Given the description of an element on the screen output the (x, y) to click on. 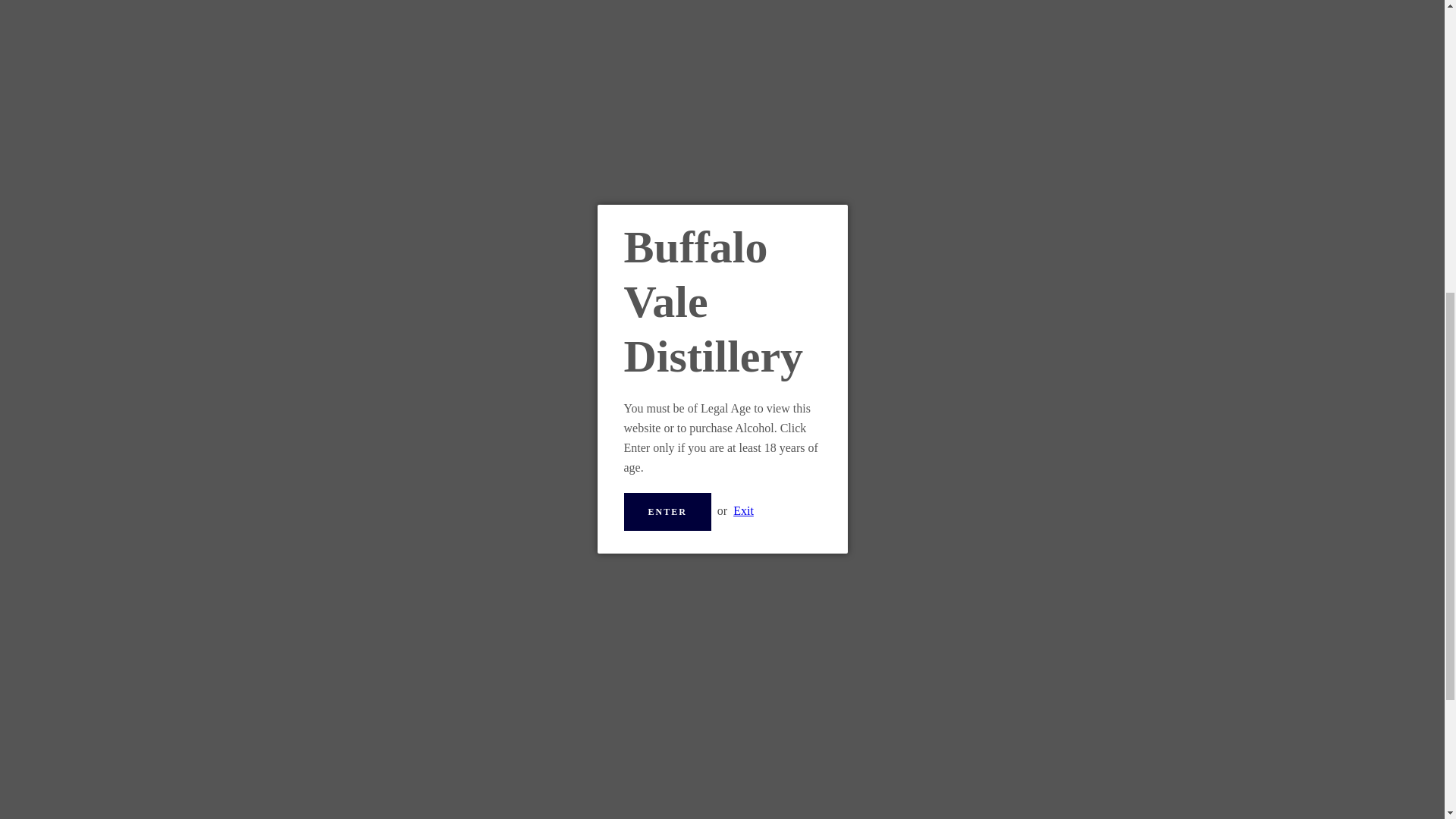
Email Buffalo Vale Distillery (661, 463)
Buffalo Vale Distillery on Facebook (372, 203)
Buffalo Vale Distillery (733, 194)
Ok (668, 118)
Facebook (372, 203)
Ok (668, 118)
Instagram (398, 203)
Powered by Shopify (767, 204)
Buffalo Vale Distillery on Instagram (398, 203)
